Given the description of an element on the screen output the (x, y) to click on. 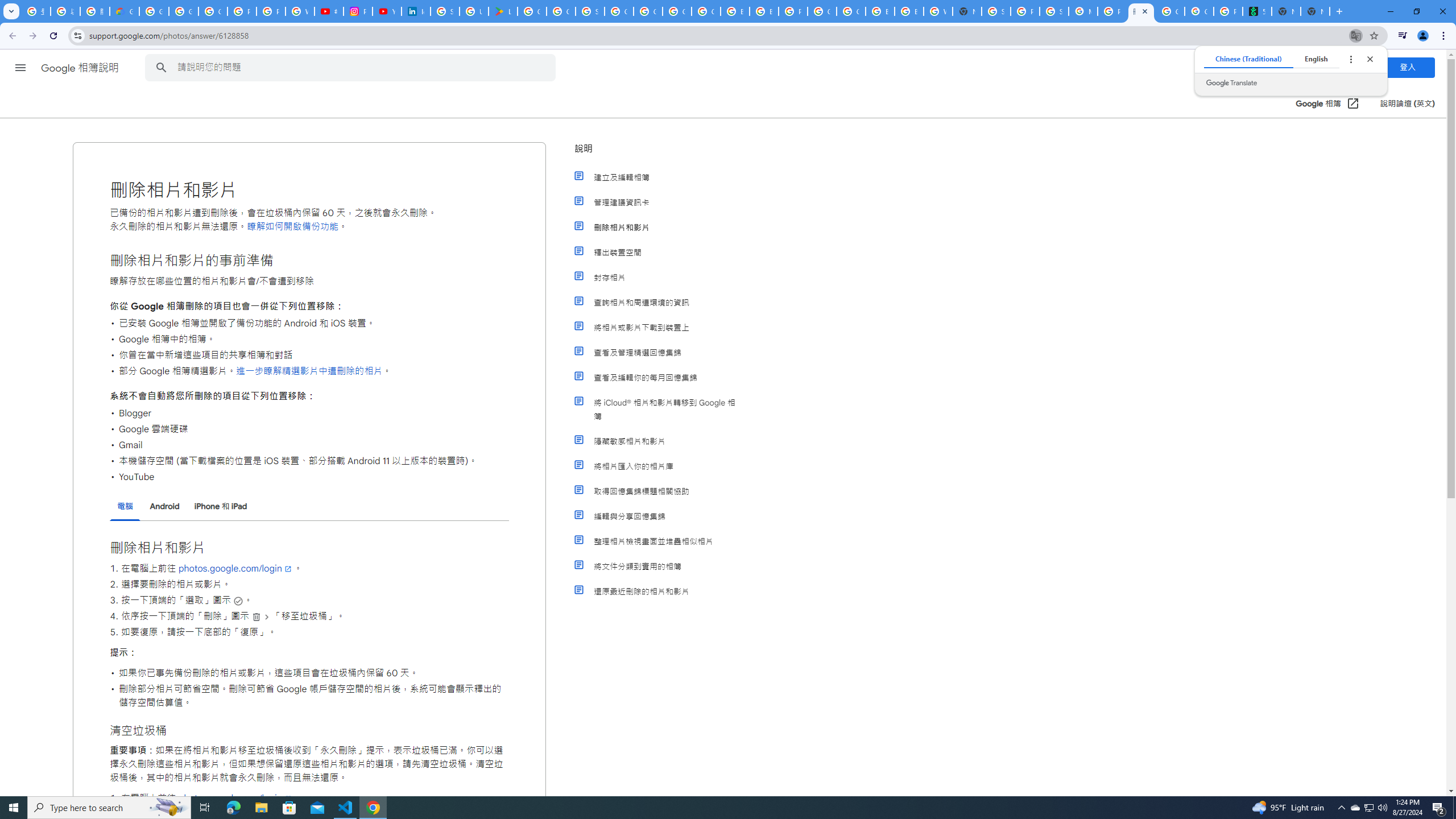
English (1315, 58)
Google Cloud Platform (850, 11)
YouTube Culture & Trends - On The Rise: Handcam Videos (386, 11)
Privacy Help Center - Policies Help (271, 11)
